Given the description of an element on the screen output the (x, y) to click on. 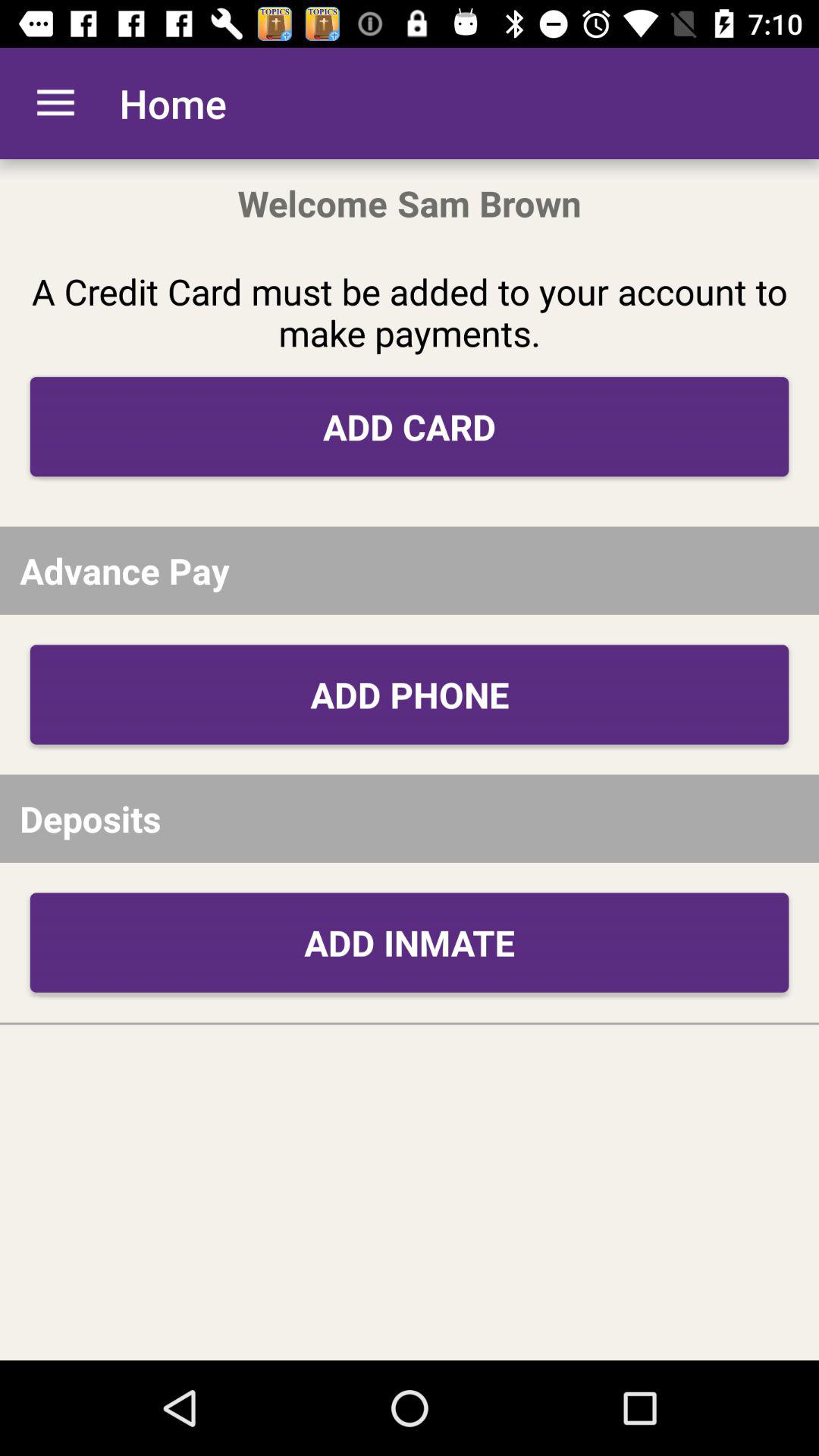
tap the item to the left of the home icon (55, 103)
